Given the description of an element on the screen output the (x, y) to click on. 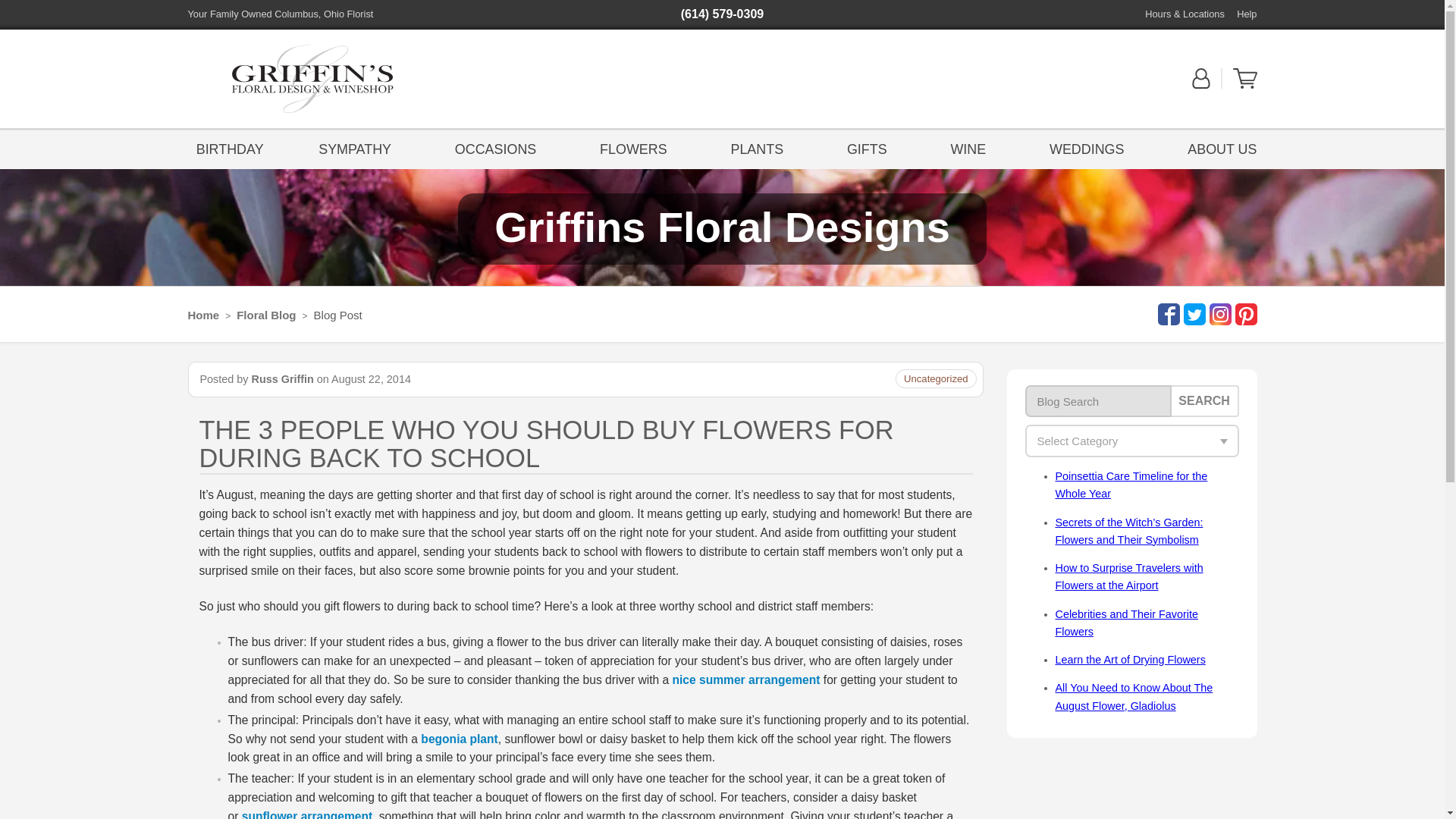
OCCASIONS (495, 147)
sunflower arrangement (306, 814)
Pinterest (1244, 314)
Home (203, 314)
Uncategorized (935, 378)
ABOUT US (1217, 147)
nice summer arrangement (745, 679)
Help (1246, 13)
FLOWERS (633, 147)
PLANTS (757, 147)
Instagram (1218, 314)
BIRTHDAY (229, 147)
SYMPATHY (358, 147)
Facebook (1166, 314)
WEDDINGS (1086, 147)
